Given the description of an element on the screen output the (x, y) to click on. 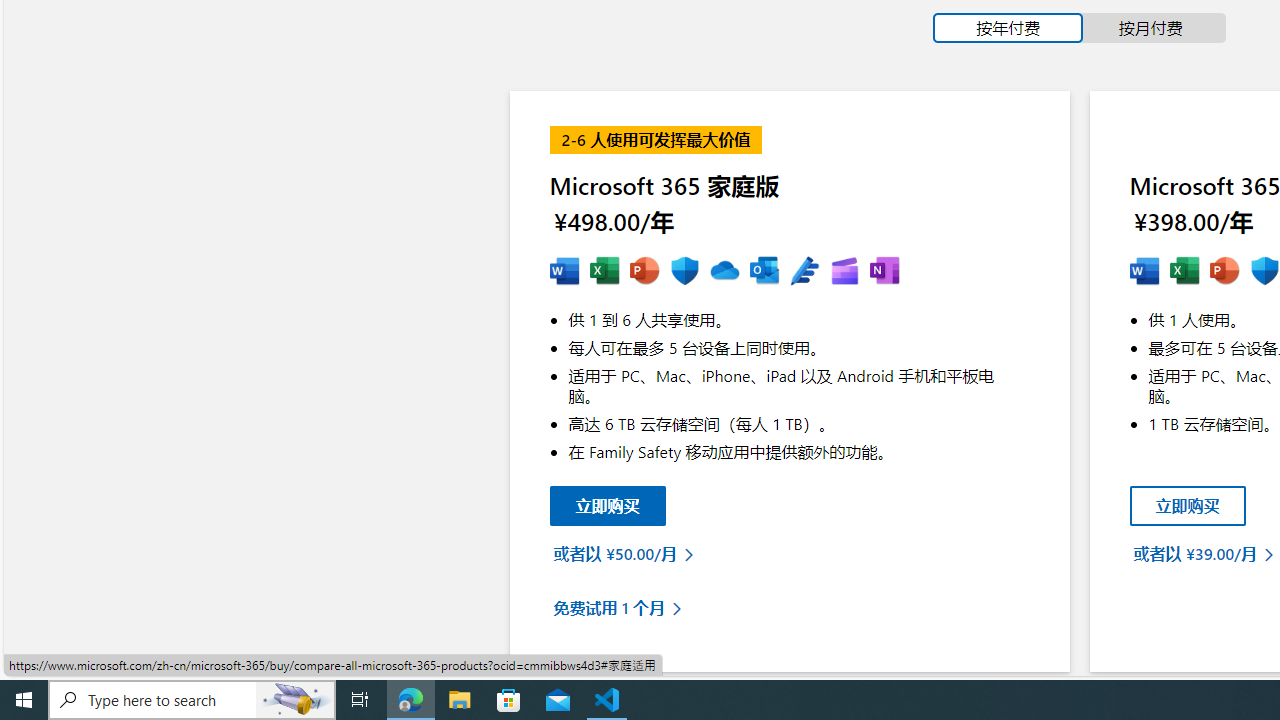
MS Powerpoint (644, 271)
MS Defender  (1264, 271)
MS Excel (1184, 271)
